Given the description of an element on the screen output the (x, y) to click on. 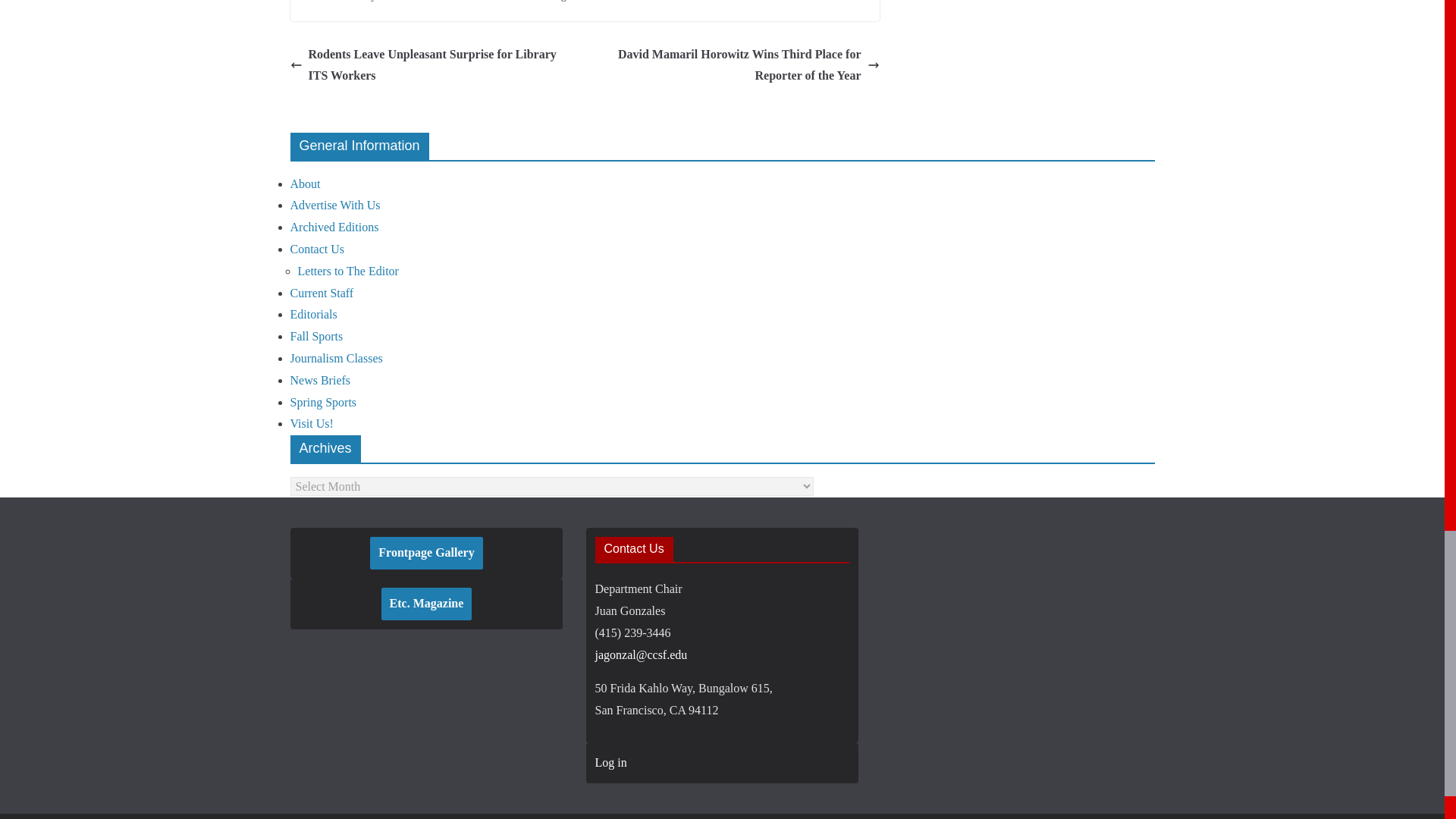
Current Staff (321, 292)
Editorials (312, 314)
Contact Us (316, 248)
Journalism Classes (335, 358)
About (304, 183)
Letters to The Editor (347, 270)
Fall Sports (315, 336)
Advertise With Us (334, 205)
Archived Editions (333, 226)
